Given the description of an element on the screen output the (x, y) to click on. 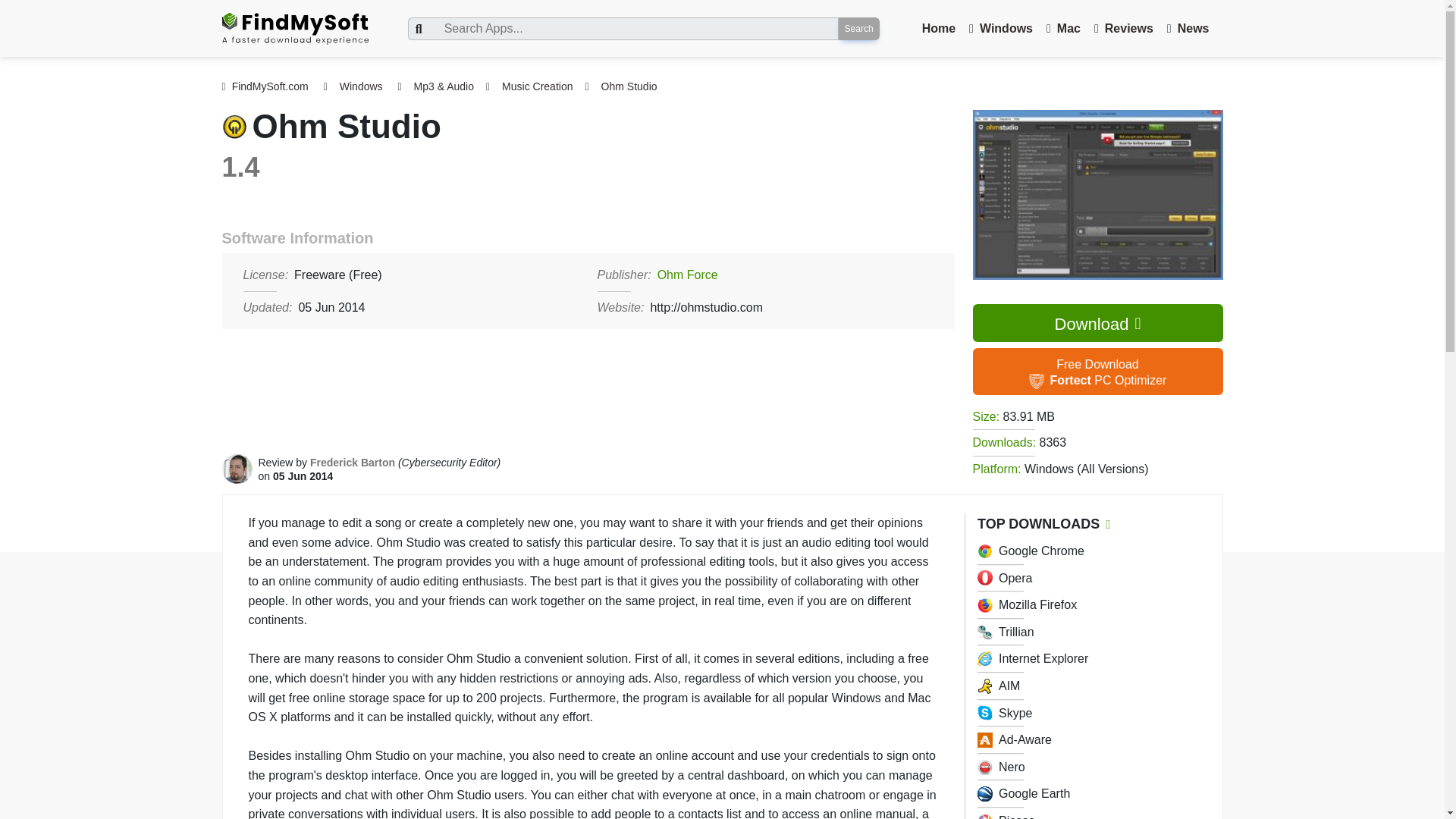
Home (937, 29)
FindMySoft.com (264, 86)
Download (1097, 322)
Ohm Studio (629, 86)
Music Creation (537, 86)
Reviews (1128, 29)
Frederick Barton (1097, 371)
Search (352, 462)
Mac (858, 28)
